Given the description of an element on the screen output the (x, y) to click on. 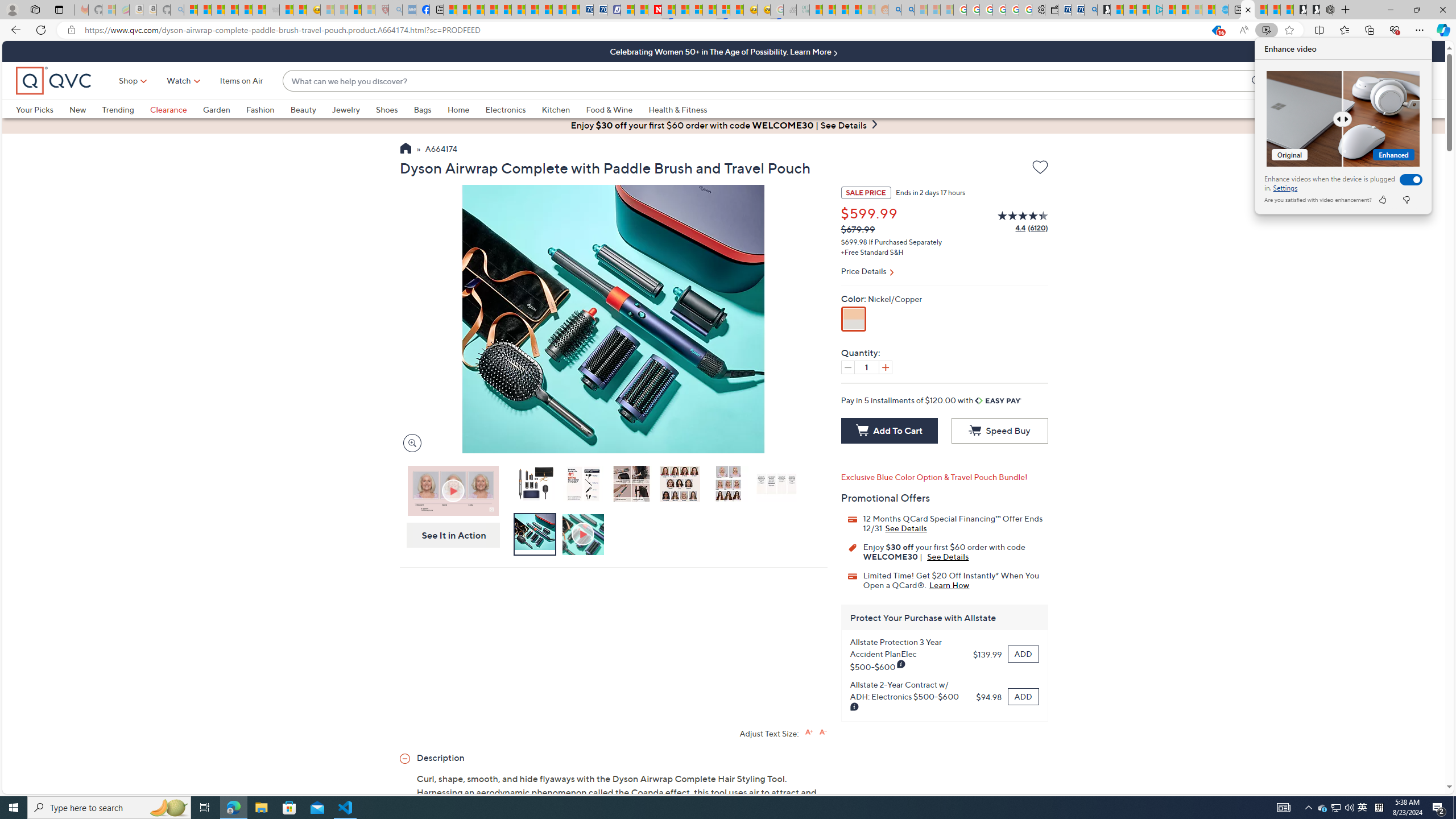
like (1382, 199)
Description (612, 756)
Add to Wish List (1040, 167)
Task View (204, 807)
Learn How (948, 584)
On-Air Presentation (453, 490)
User Promoted Notification Area (1336, 807)
